Given the description of an element on the screen output the (x, y) to click on. 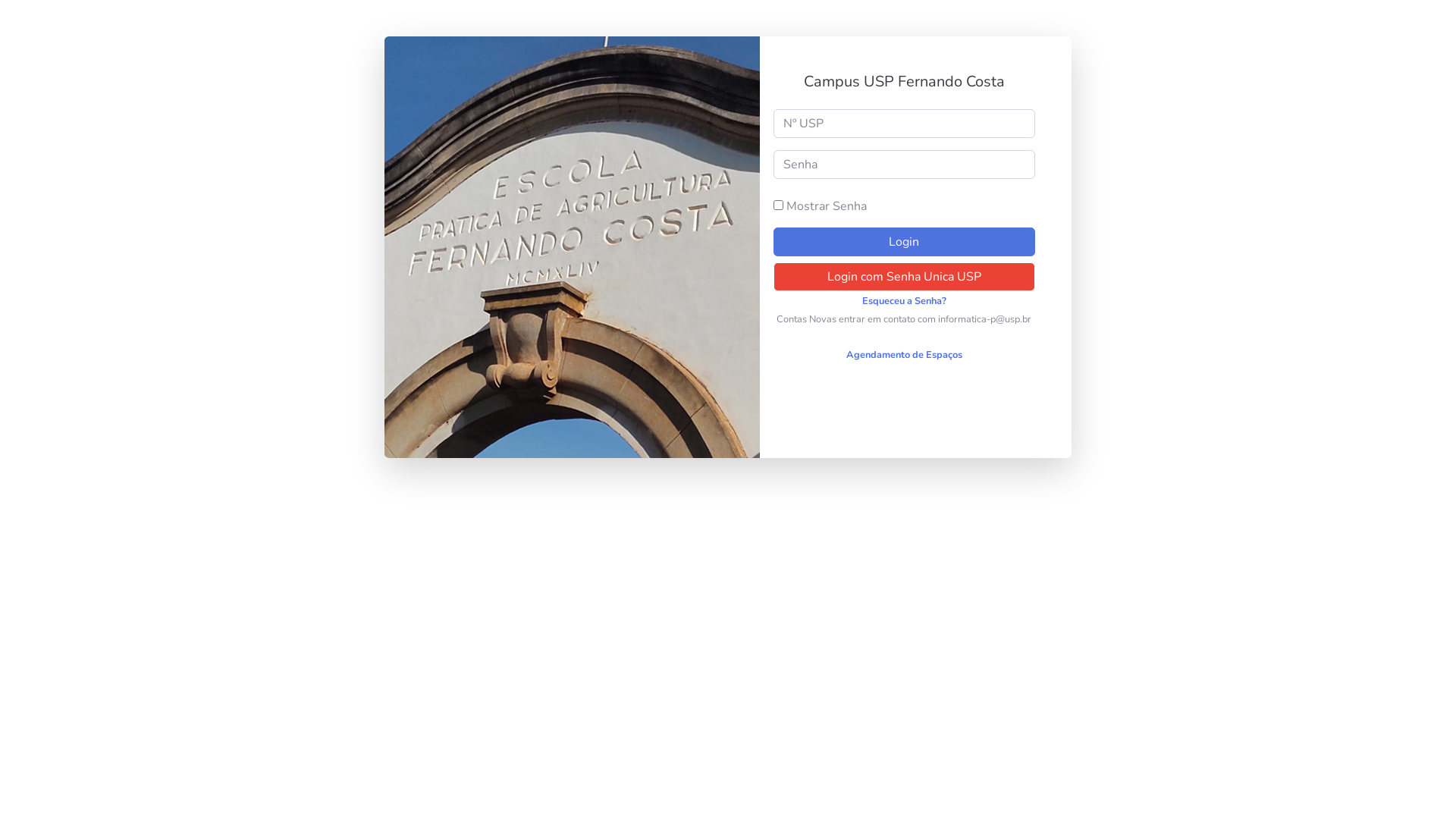
on Element type: text (778, 205)
Login com Senha Unica USP Element type: text (904, 276)
Esqueceu a Senha? Element type: text (904, 300)
Login Element type: text (904, 241)
